Given the description of an element on the screen output the (x, y) to click on. 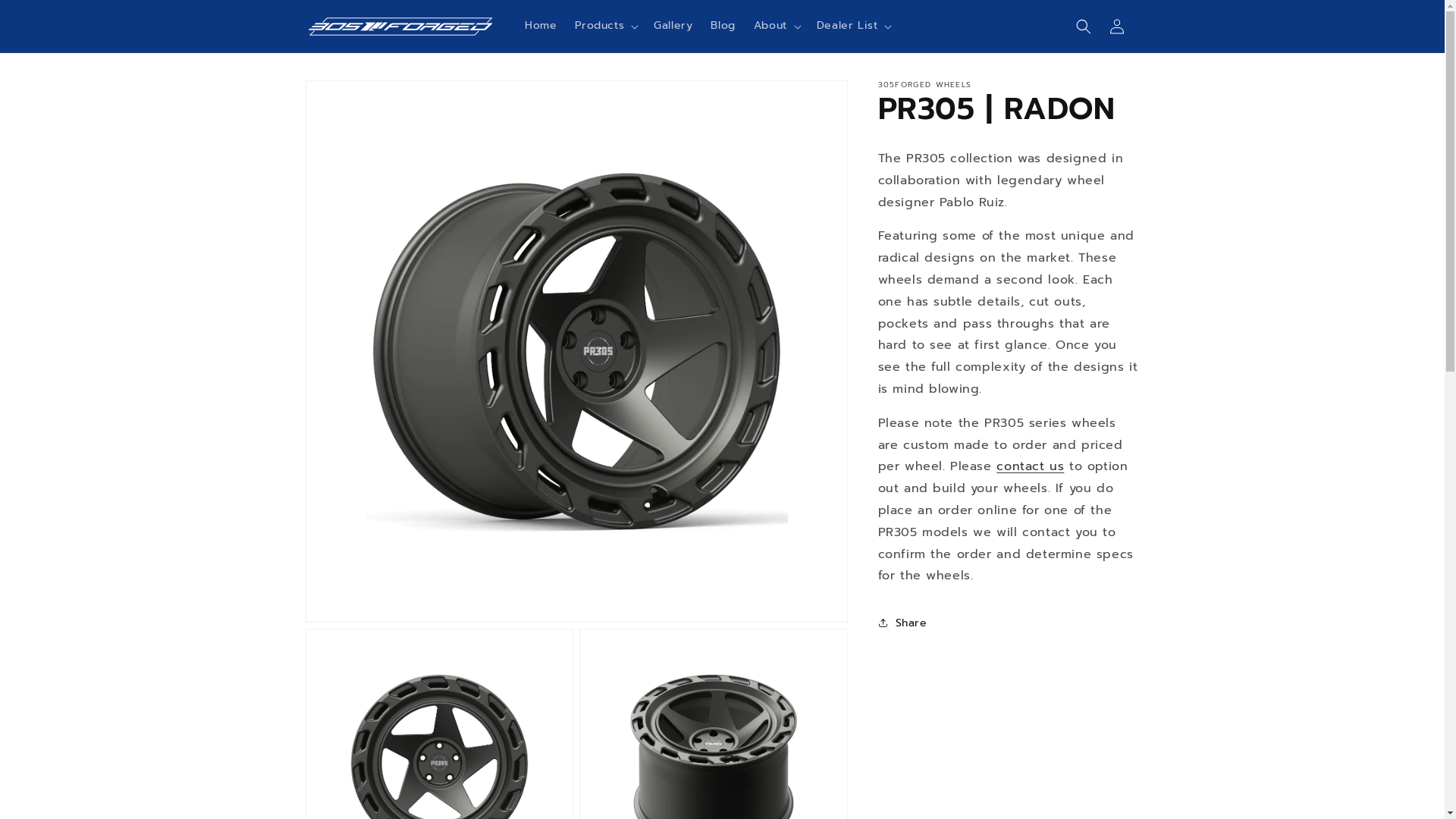
contact us Element type: text (1029, 466)
Log in Element type: text (1115, 25)
Skip to product information Element type: text (350, 97)
https://305forgedwheels.com/products/pr305-radon Element type: text (968, 679)
Blog Element type: text (722, 25)
Gallery Element type: text (672, 25)
Home Element type: text (540, 25)
